Given the description of an element on the screen output the (x, y) to click on. 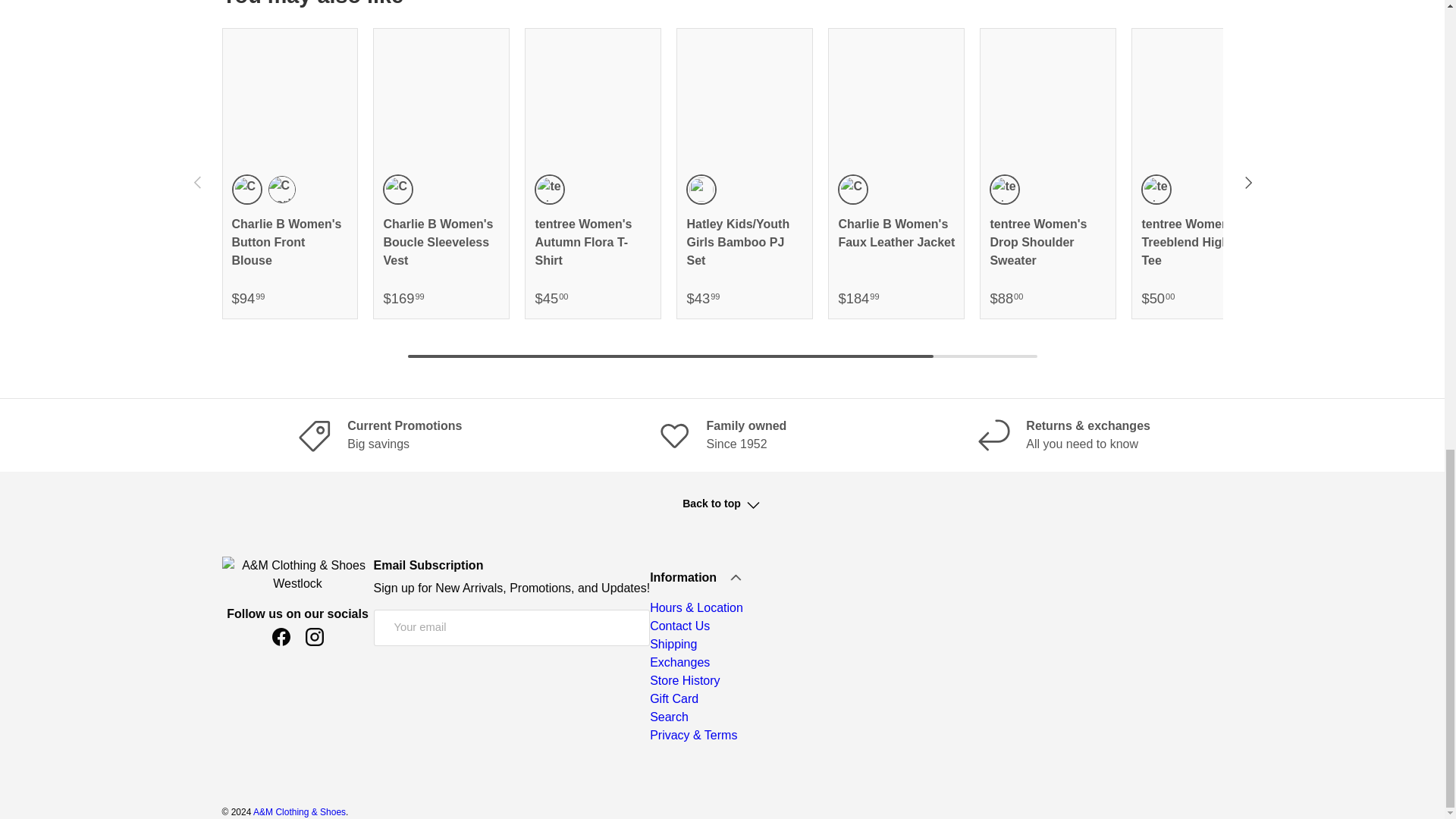
Dino (1308, 189)
TRUFFLE (853, 189)
Eden (246, 189)
Terracotta (398, 189)
